Given the description of an element on the screen output the (x, y) to click on. 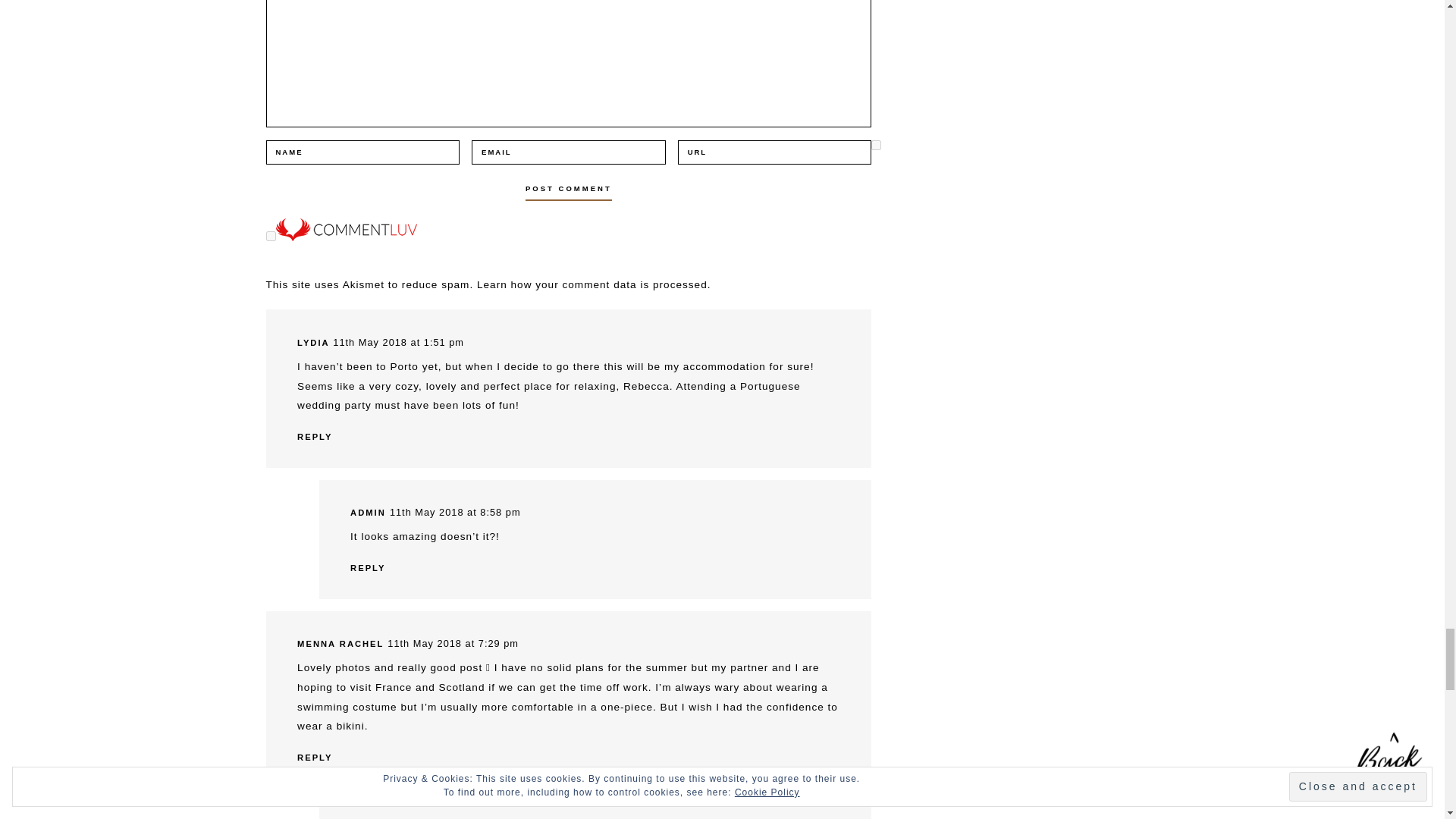
1 (875, 144)
Post Comment (568, 188)
on (269, 235)
